Given the description of an element on the screen output the (x, y) to click on. 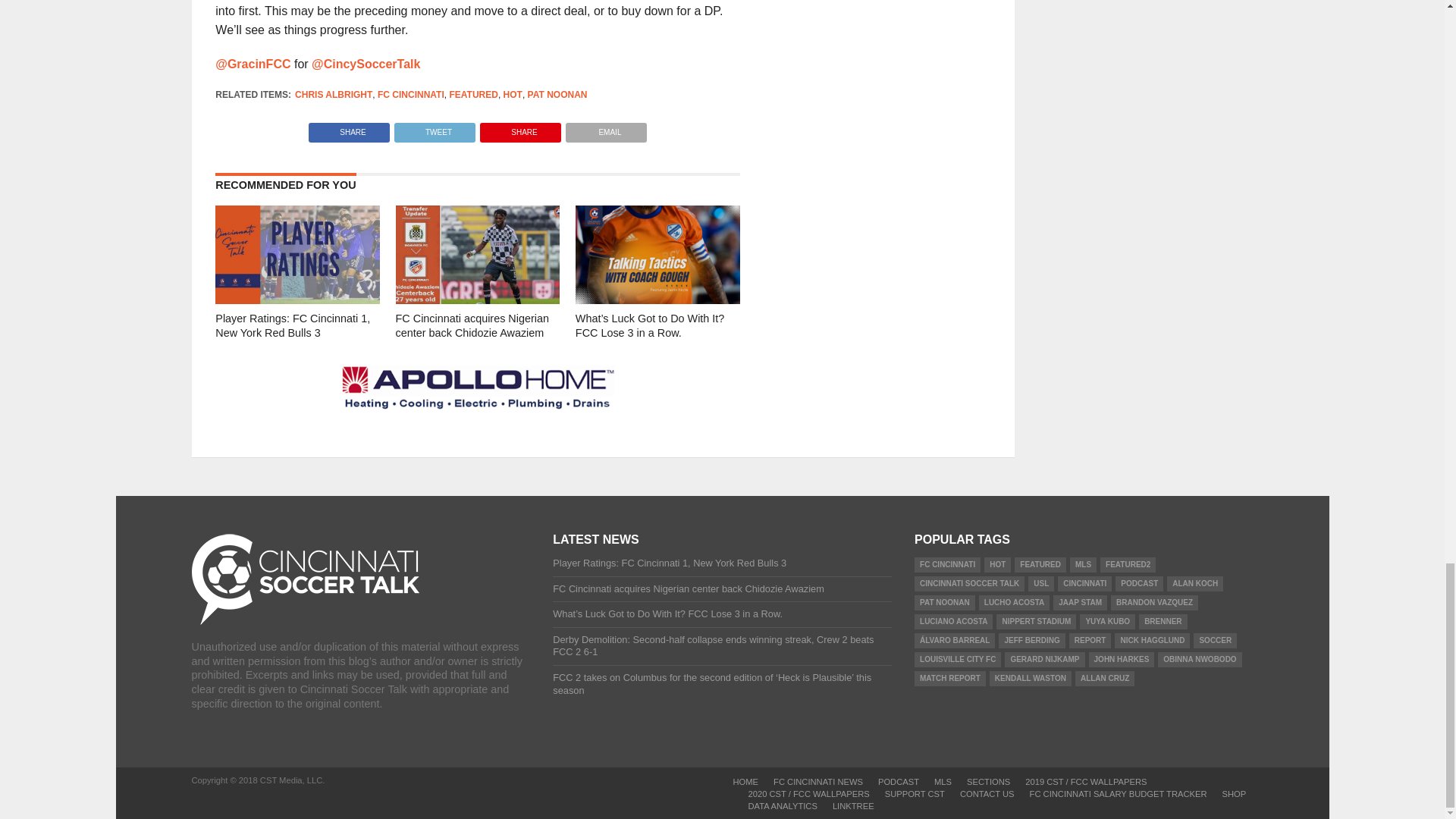
Pin This Post (520, 128)
Tweet This Post (434, 128)
FC Cincinnati acquires Nigerian center back Chidozie Awaziem (478, 299)
Share on Facebook (349, 128)
Player Ratings: FC Cincinnati 1, New York Red Bulls 3 (297, 299)
